Given the description of an element on the screen output the (x, y) to click on. 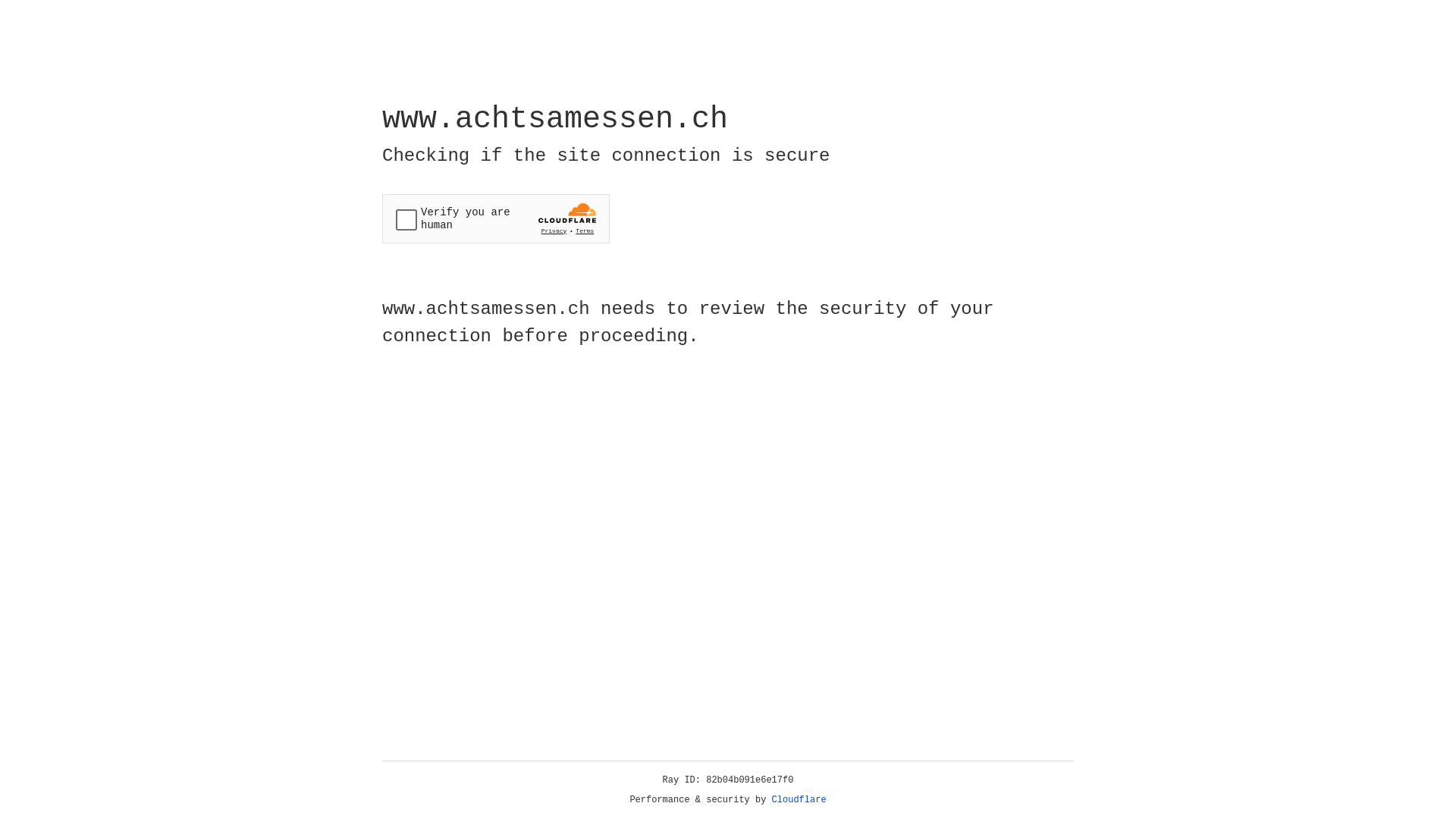
Cloudflare Element type: text (798, 799)
Widget containing a Cloudflare security challenge Element type: hover (495, 218)
